Given the description of an element on the screen output the (x, y) to click on. 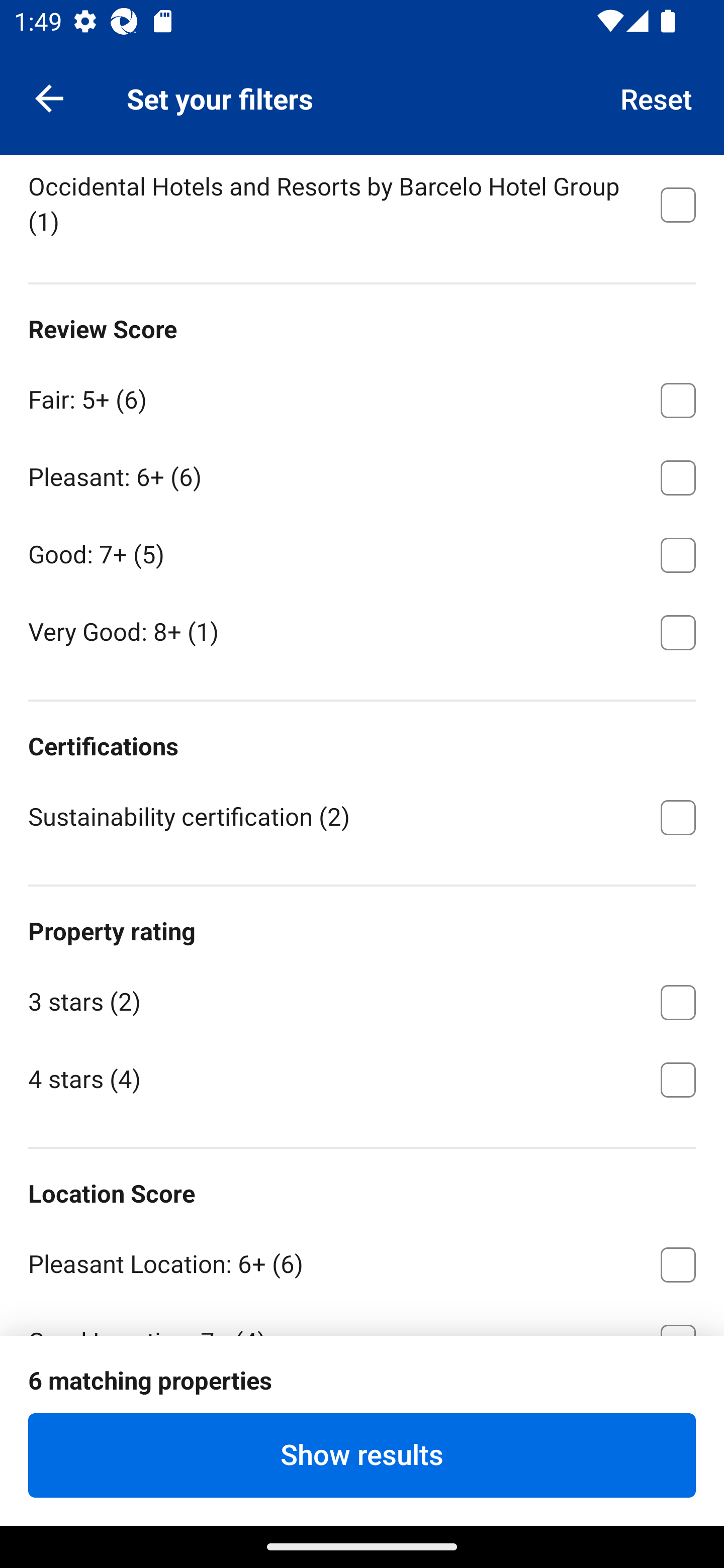
Navigate up (49, 97)
Reset (656, 97)
Fair: 5+ ⁦(6) (361, 397)
Pleasant: 6+ ⁦(6) (361, 473)
Good: 7+ ⁦(5) (361, 551)
Very Good: 8+ ⁦(1) (361, 631)
Sustainability certification ⁦(2) (361, 816)
3 stars ⁦(2) (361, 998)
4 stars ⁦(4) (361, 1077)
Pleasant Location: 6+ ⁦(6) (361, 1261)
Show results (361, 1454)
